Given the description of an element on the screen output the (x, y) to click on. 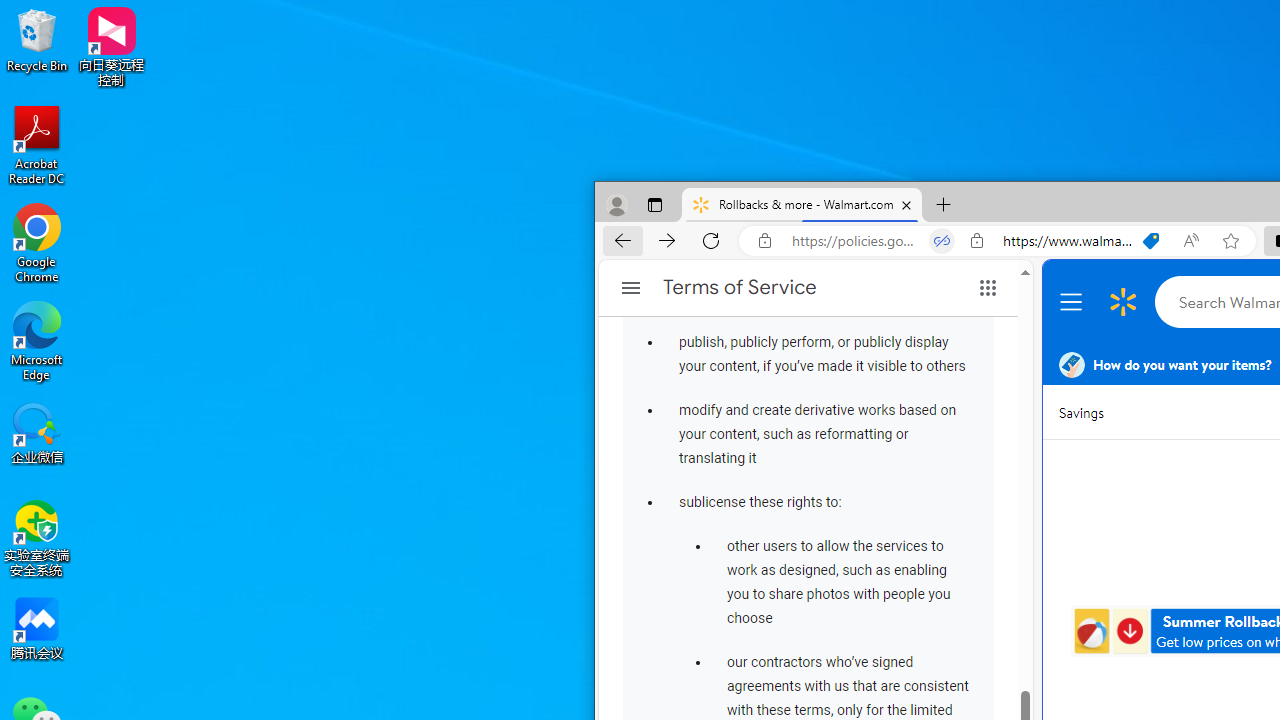
Microsoft Edge (37, 340)
Acrobat Reader DC (37, 144)
